Given the description of an element on the screen output the (x, y) to click on. 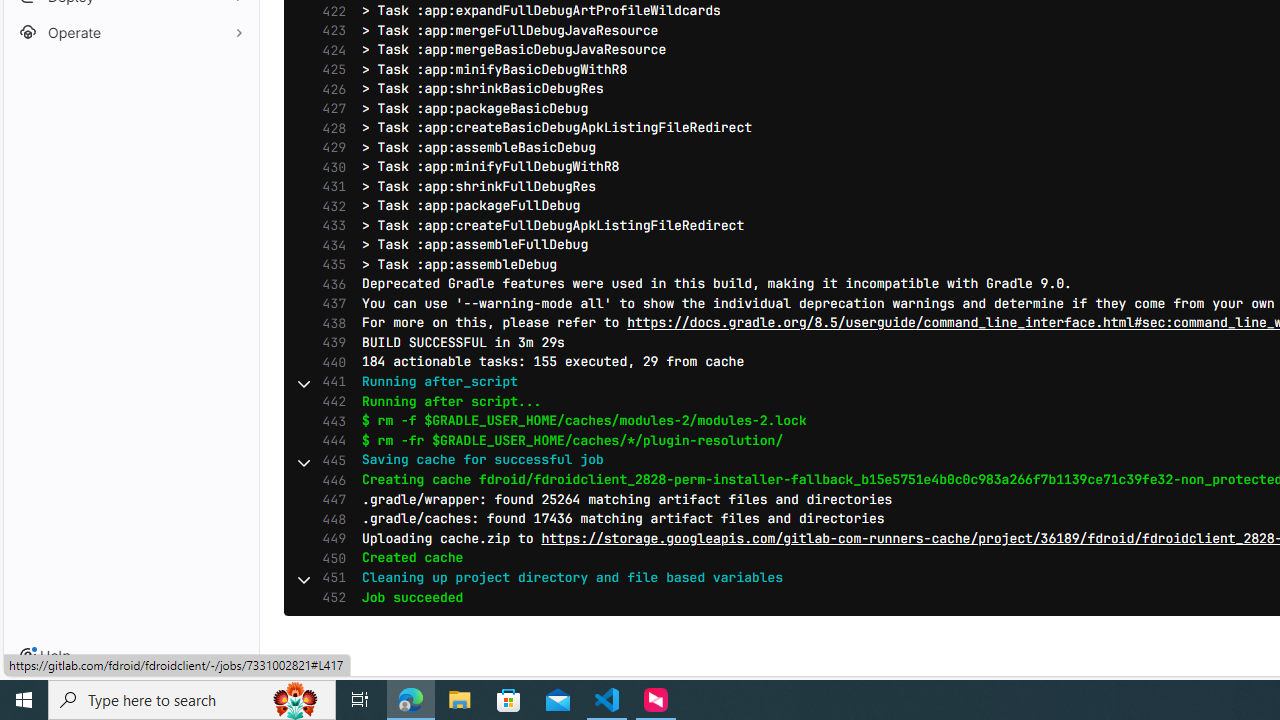
440 (329, 362)
431 (329, 187)
446 (329, 480)
437 (329, 303)
436 (329, 284)
Help (45, 655)
443 (329, 421)
Operate (130, 31)
439 (329, 342)
451 (329, 578)
434 (329, 245)
449 (329, 538)
428 (329, 128)
425 (329, 69)
423 (329, 30)
